Given the description of an element on the screen output the (x, y) to click on. 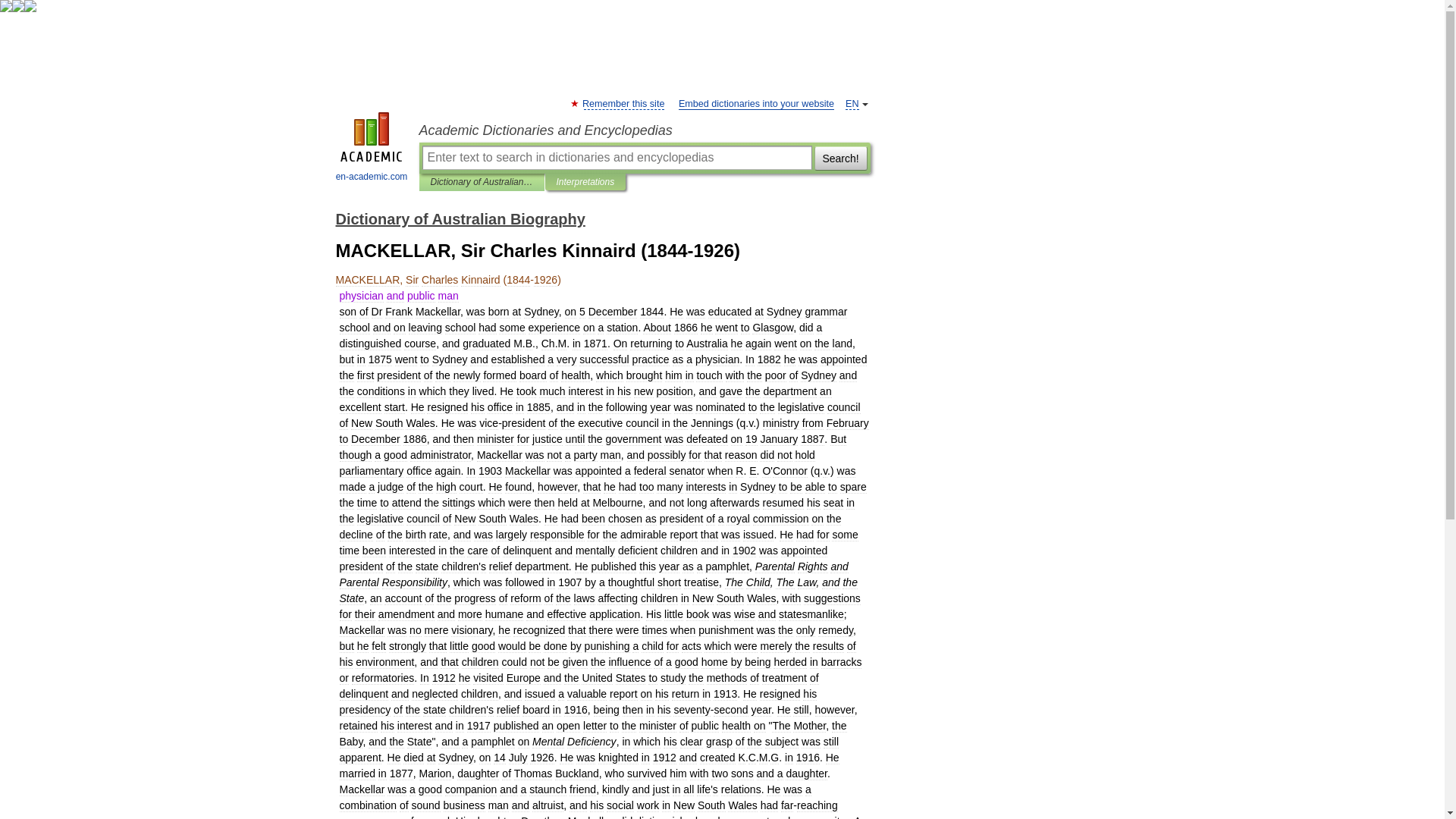
Remember this site (623, 103)
Embed dictionaries into your website (756, 103)
en-academic.com (371, 148)
EN (852, 103)
Interpretations (585, 181)
Dictionary of Australian Biography (459, 218)
Dictionary of Australian Biography (481, 181)
Academic Dictionaries and Encyclopedias (644, 130)
Search! (840, 157)
Enter text to search in dictionaries and encyclopedias (616, 157)
